Given the description of an element on the screen output the (x, y) to click on. 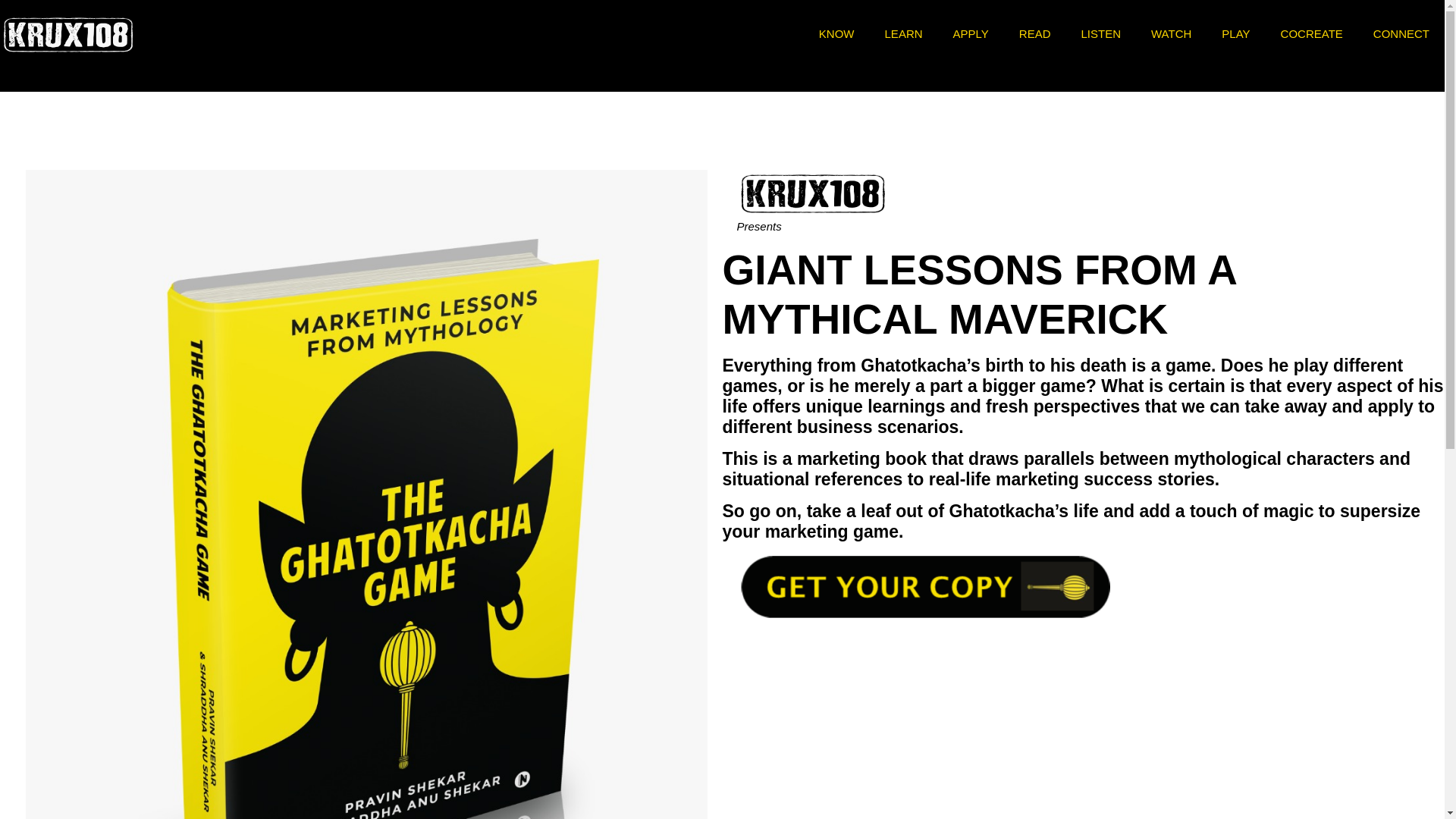
WATCH (1171, 33)
COCREATE (1311, 33)
READ (1034, 33)
KNOW (836, 33)
LEARN (903, 33)
LISTEN (1101, 33)
APPLY (970, 33)
Krux 108 (68, 33)
